Given the description of an element on the screen output the (x, y) to click on. 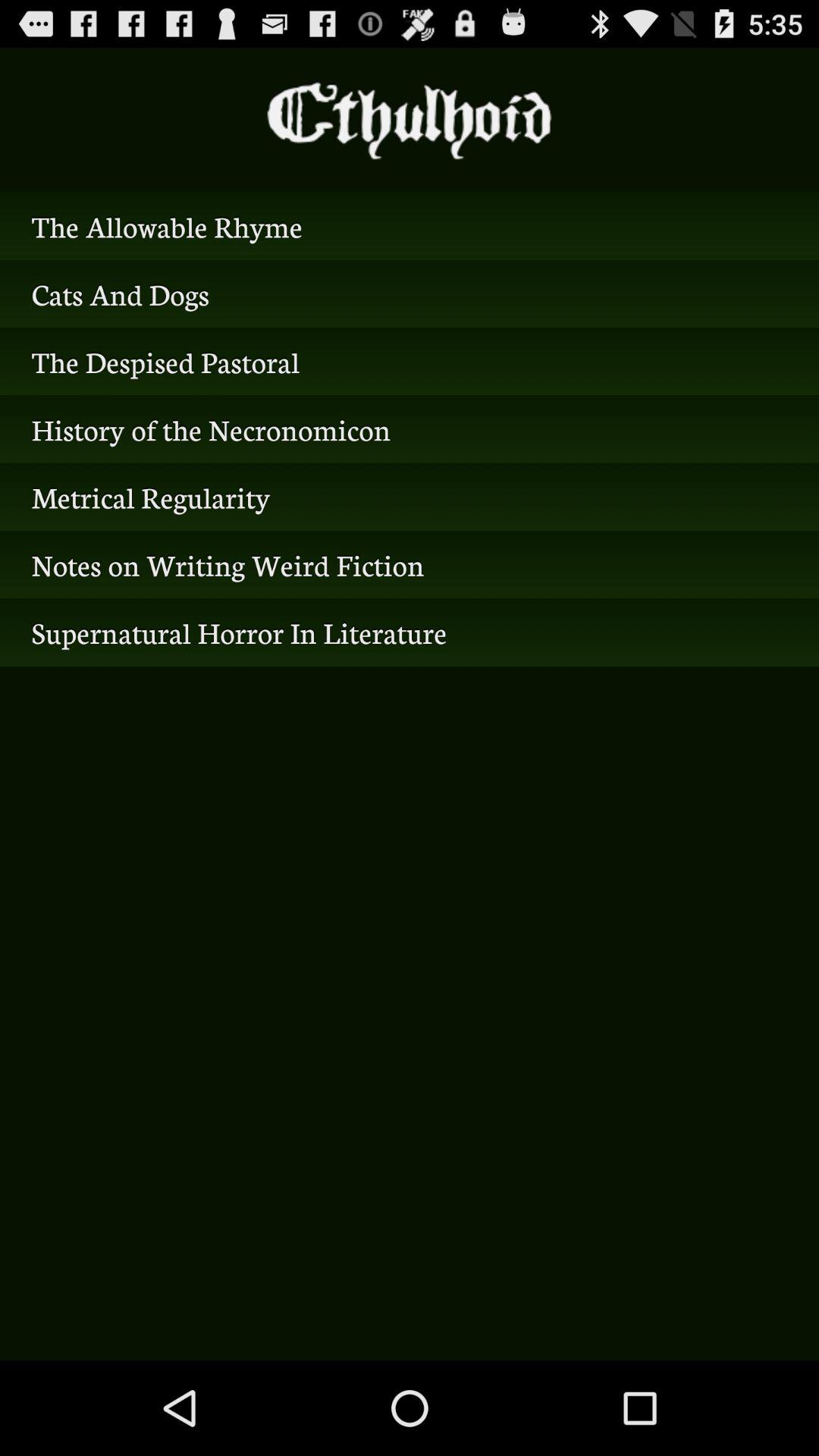
jump to the allowable rhyme item (409, 226)
